Given the description of an element on the screen output the (x, y) to click on. 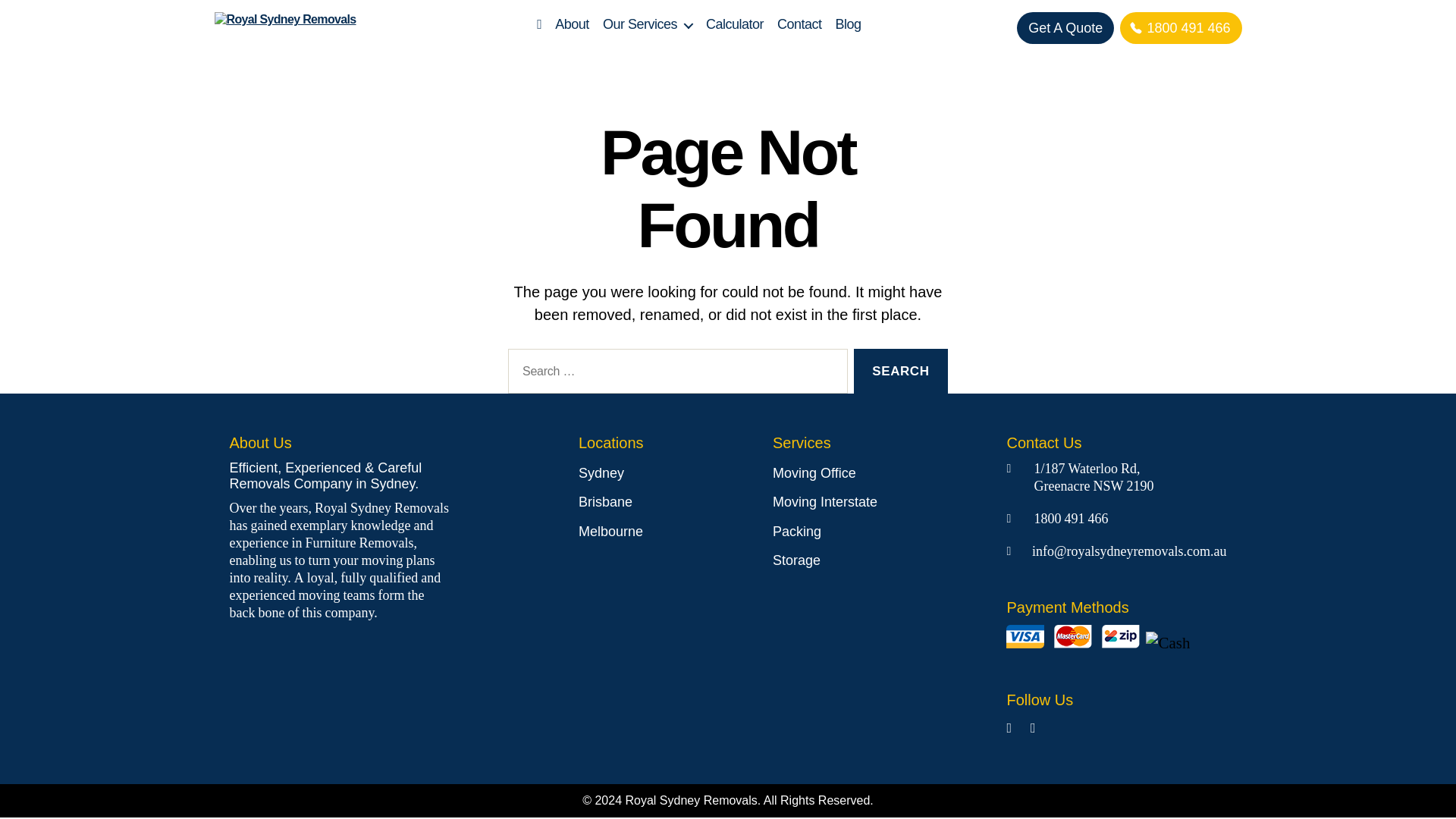
Calculator (734, 24)
Blog (848, 24)
1800 491 466 (1180, 28)
Visa (1024, 636)
Search (900, 370)
Get A Quote (1064, 28)
Search (900, 370)
Contact (799, 24)
Our Services (647, 24)
About (571, 24)
